Given the description of an element on the screen output the (x, y) to click on. 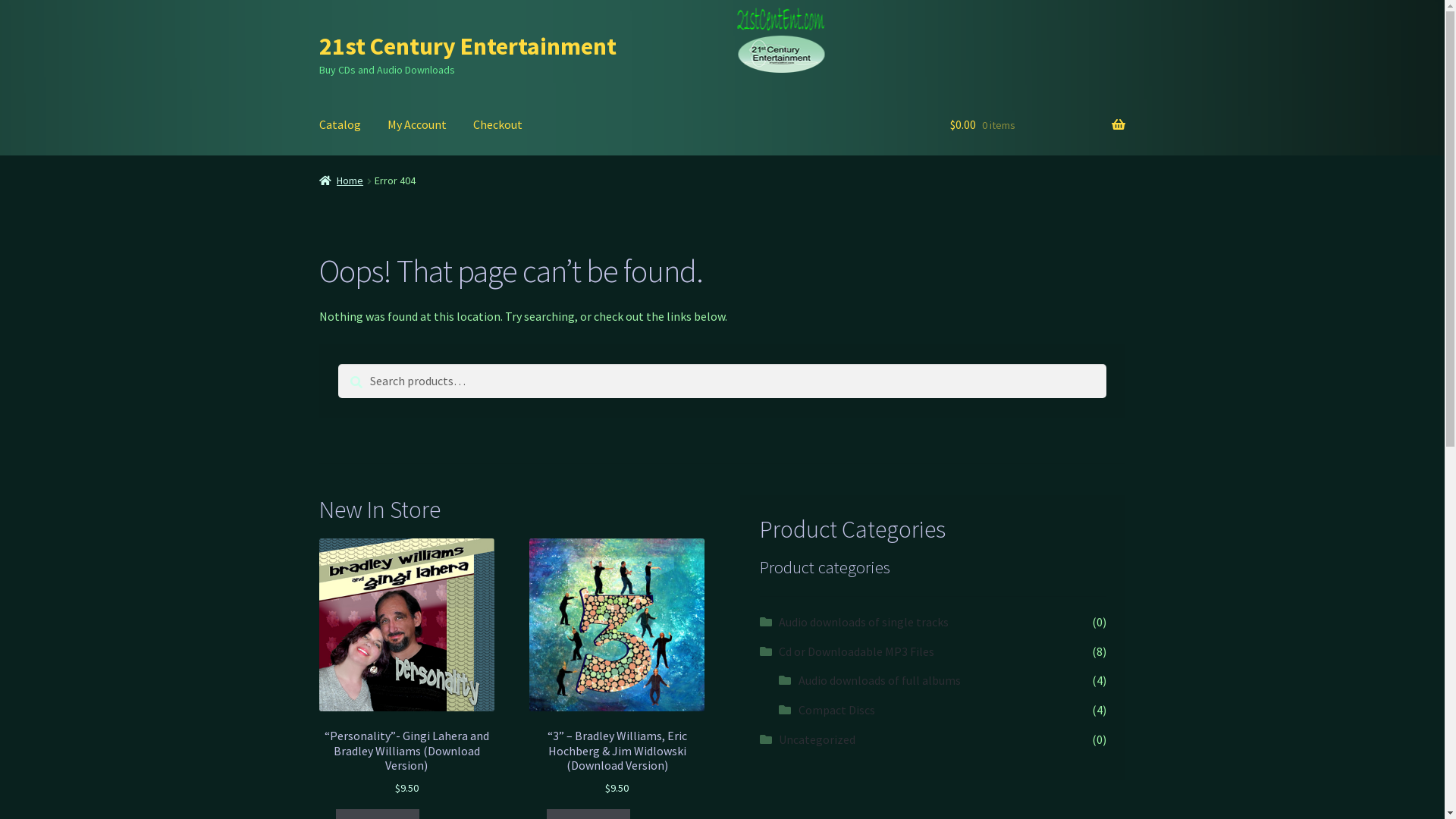
Checkout Element type: text (497, 124)
My Account Element type: text (416, 124)
Catalog Element type: text (340, 124)
Skip to navigation Element type: text (318, 31)
Home Element type: text (341, 180)
21st Century Entertainment Element type: text (467, 46)
Uncategorized Element type: text (816, 738)
Search Element type: text (337, 363)
Cd or Downloadable MP3 Files Element type: text (856, 650)
Compact Discs Element type: text (836, 709)
Audio downloads of full albums Element type: text (879, 679)
$0.00 0 items Element type: text (1037, 124)
Audio downloads of single tracks Element type: text (863, 621)
